Given the description of an element on the screen output the (x, y) to click on. 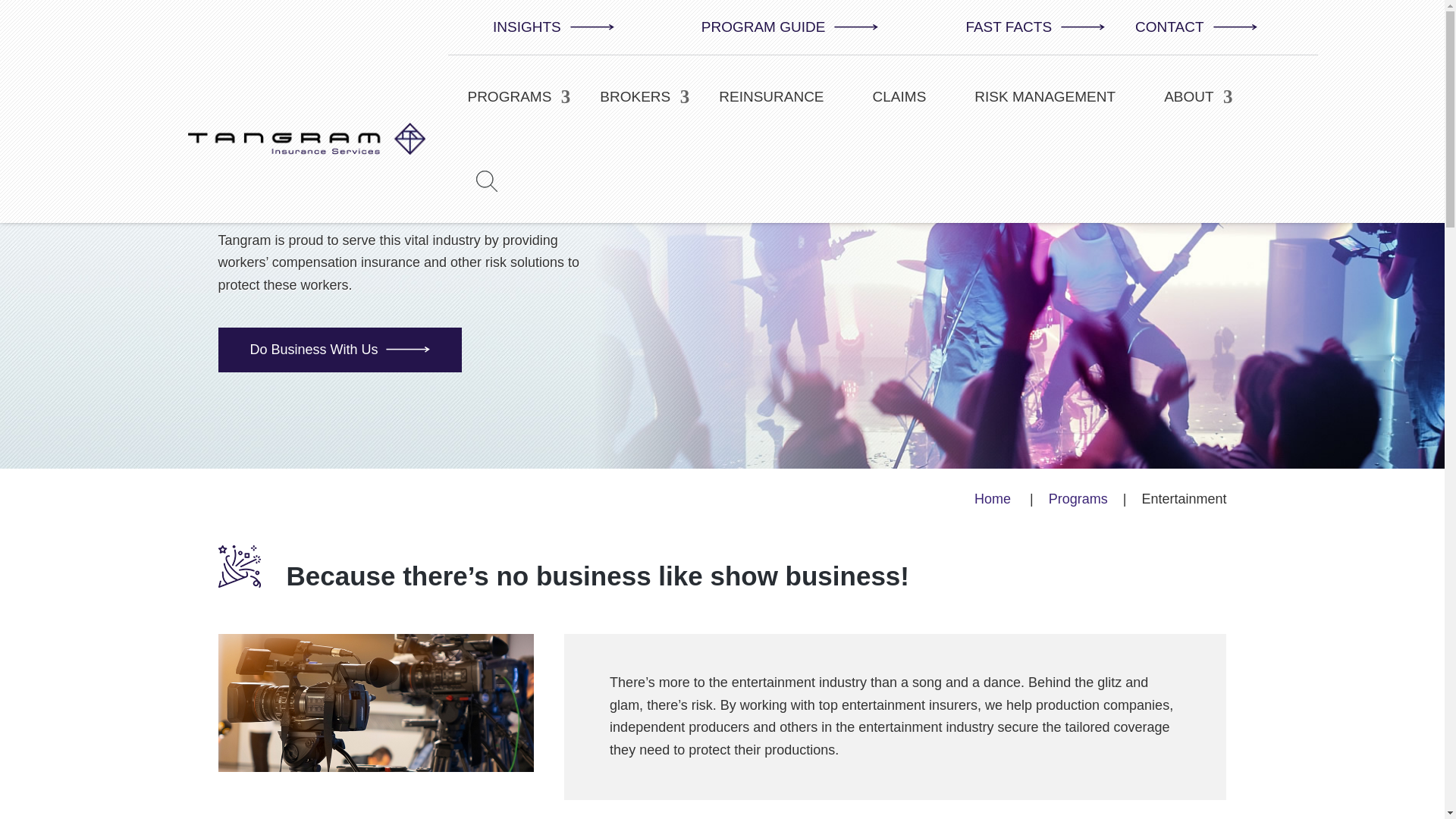
PROGRAMS (508, 97)
FAST FACTS (1019, 27)
CONTACT (1180, 27)
enter1 (376, 702)
INSIGHTS (538, 27)
REINSURANCE (770, 97)
CLAIMS (899, 97)
BROKERS (635, 97)
PROGRAM GUIDE (775, 27)
ABOUT (1188, 97)
RISK MANAGEMENT (1045, 97)
